Given the description of an element on the screen output the (x, y) to click on. 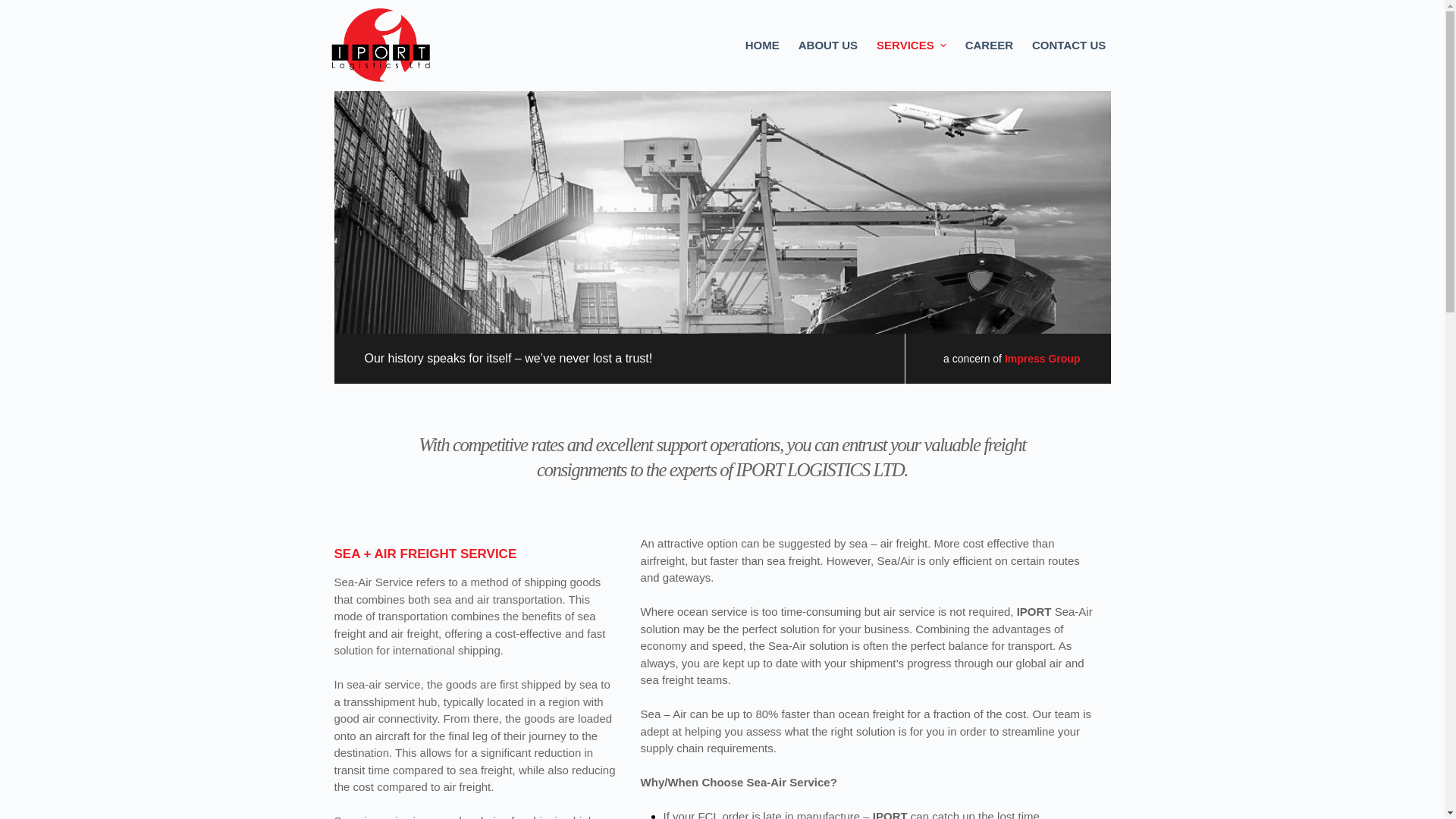
ABOUT US (827, 45)
SERVICES (911, 45)
Impress Group (1042, 358)
HOME (762, 45)
CAREER (988, 45)
Skip to content (15, 7)
CONTACT US (1068, 45)
